Given the description of an element on the screen output the (x, y) to click on. 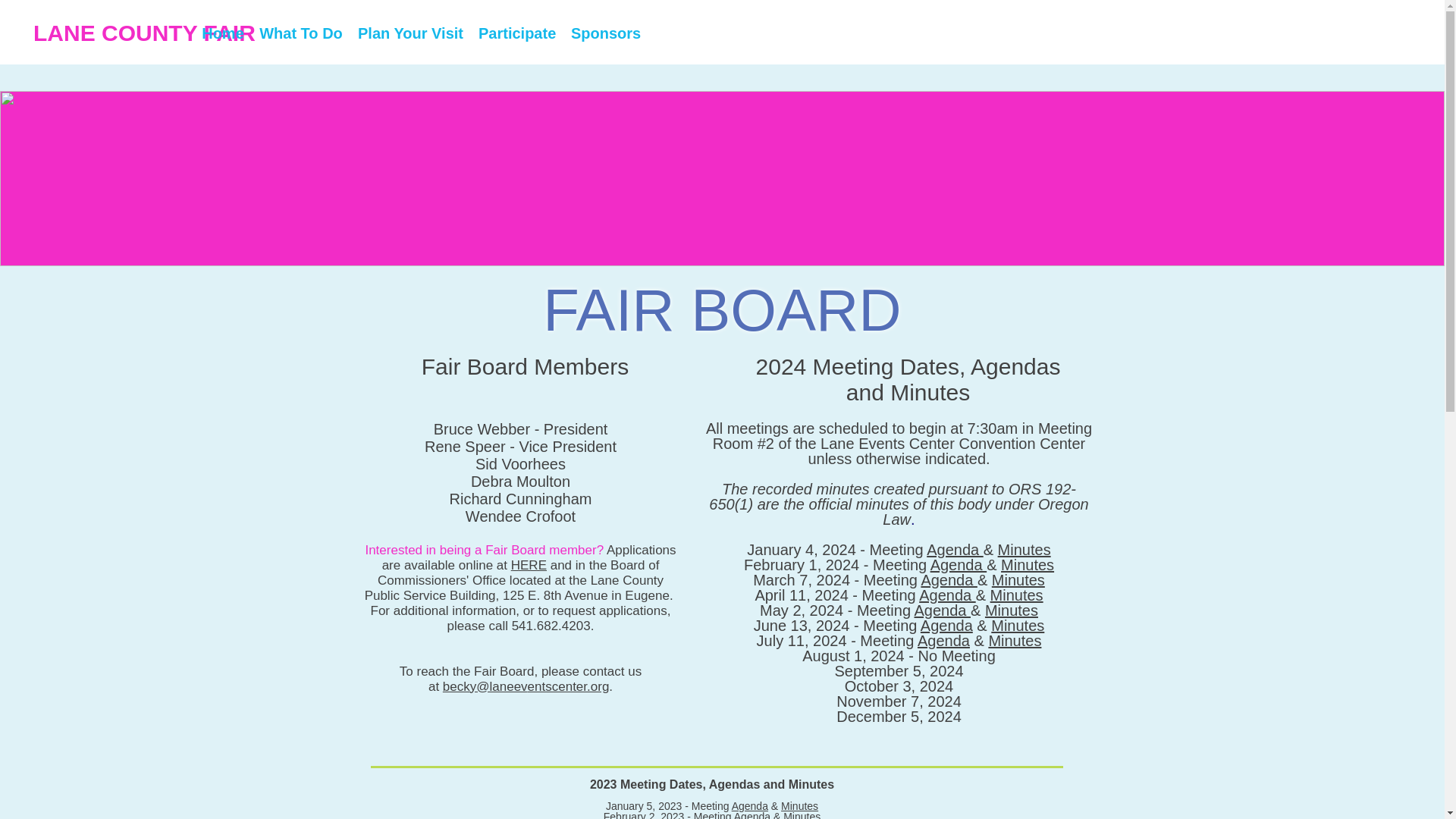
Agenda (751, 814)
Minutes (1018, 579)
Minutes (1011, 610)
Minutes (1017, 625)
Minutes (1016, 595)
Minutes (1027, 564)
Agenda (750, 806)
Minutes (1014, 640)
Agenda (946, 595)
Agenda (946, 625)
